Given the description of an element on the screen output the (x, y) to click on. 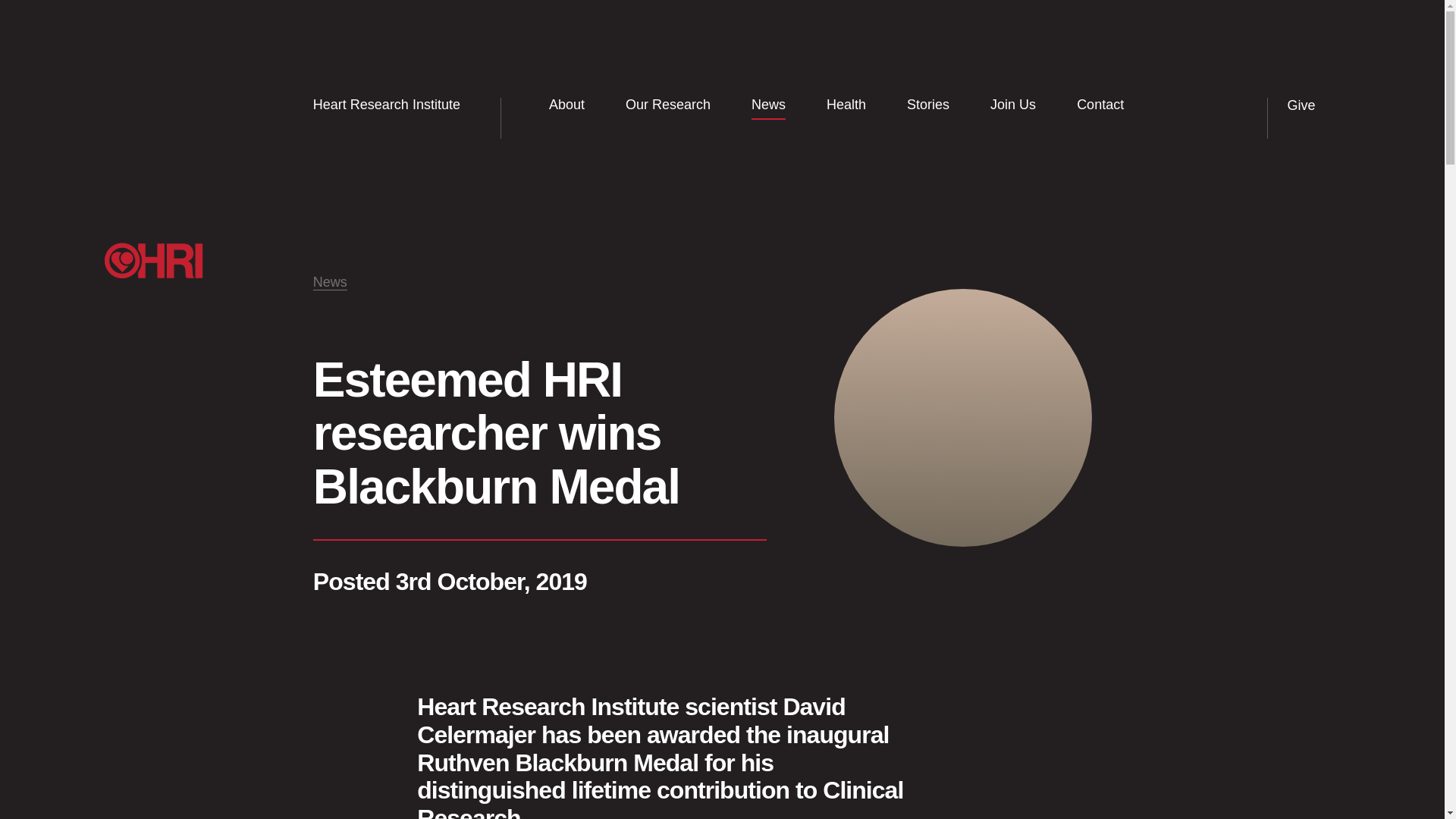
About (566, 104)
Contact (1100, 104)
News (330, 282)
Give (1313, 105)
Stories (927, 104)
News (768, 104)
Our Research (667, 104)
Join Us (1013, 104)
Health (846, 104)
Heart Research Institute (396, 104)
